Given the description of an element on the screen output the (x, y) to click on. 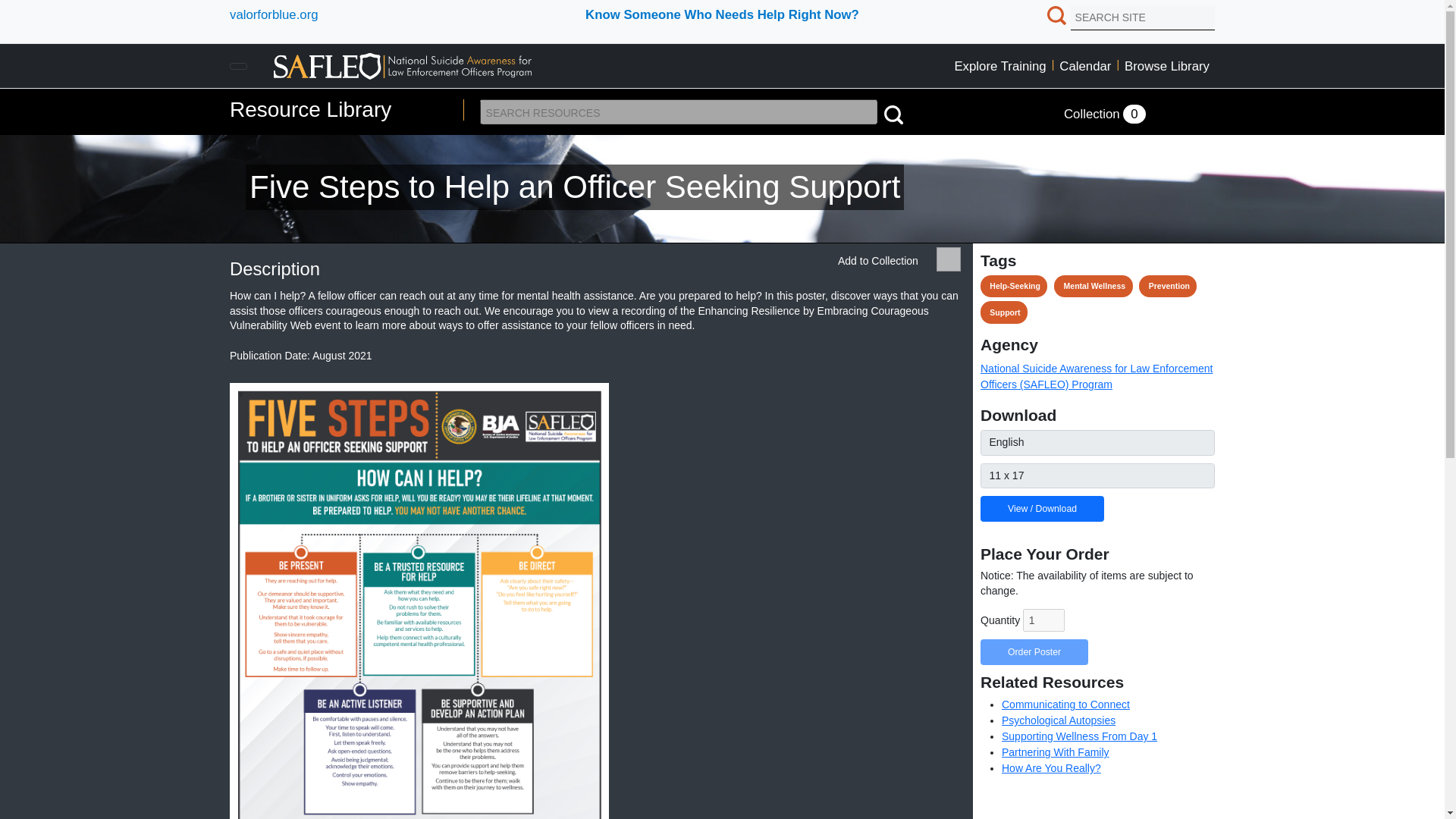
Explore Training (1000, 66)
valorforblue.org (274, 14)
Add To Collection (948, 259)
Search Resources (892, 114)
Resource Library (310, 109)
Calendar (1085, 66)
Search Site (1059, 14)
Search Resources (891, 112)
Browse Library (1166, 66)
Know Someone Who Needs Help Right Now? (722, 14)
1 (1043, 620)
